Given the description of an element on the screen output the (x, y) to click on. 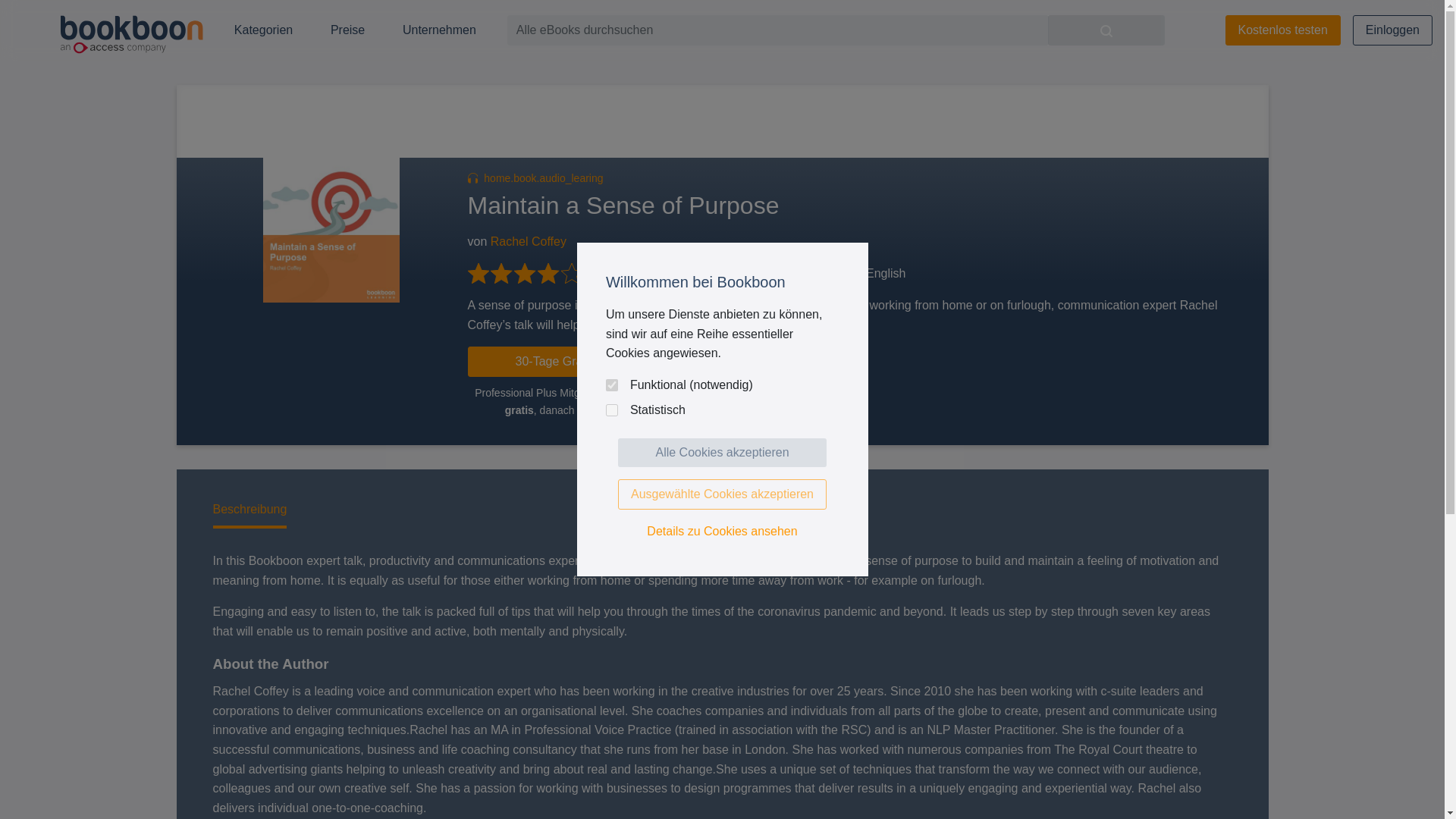
FUNCTIONAL (611, 385)
Preise (347, 30)
Details zu Cookies ansehen (722, 531)
Kategorien (263, 30)
Alle Cookies akzeptieren (722, 452)
Unternehmen (439, 30)
STATISTICAL (611, 410)
